Given the description of an element on the screen output the (x, y) to click on. 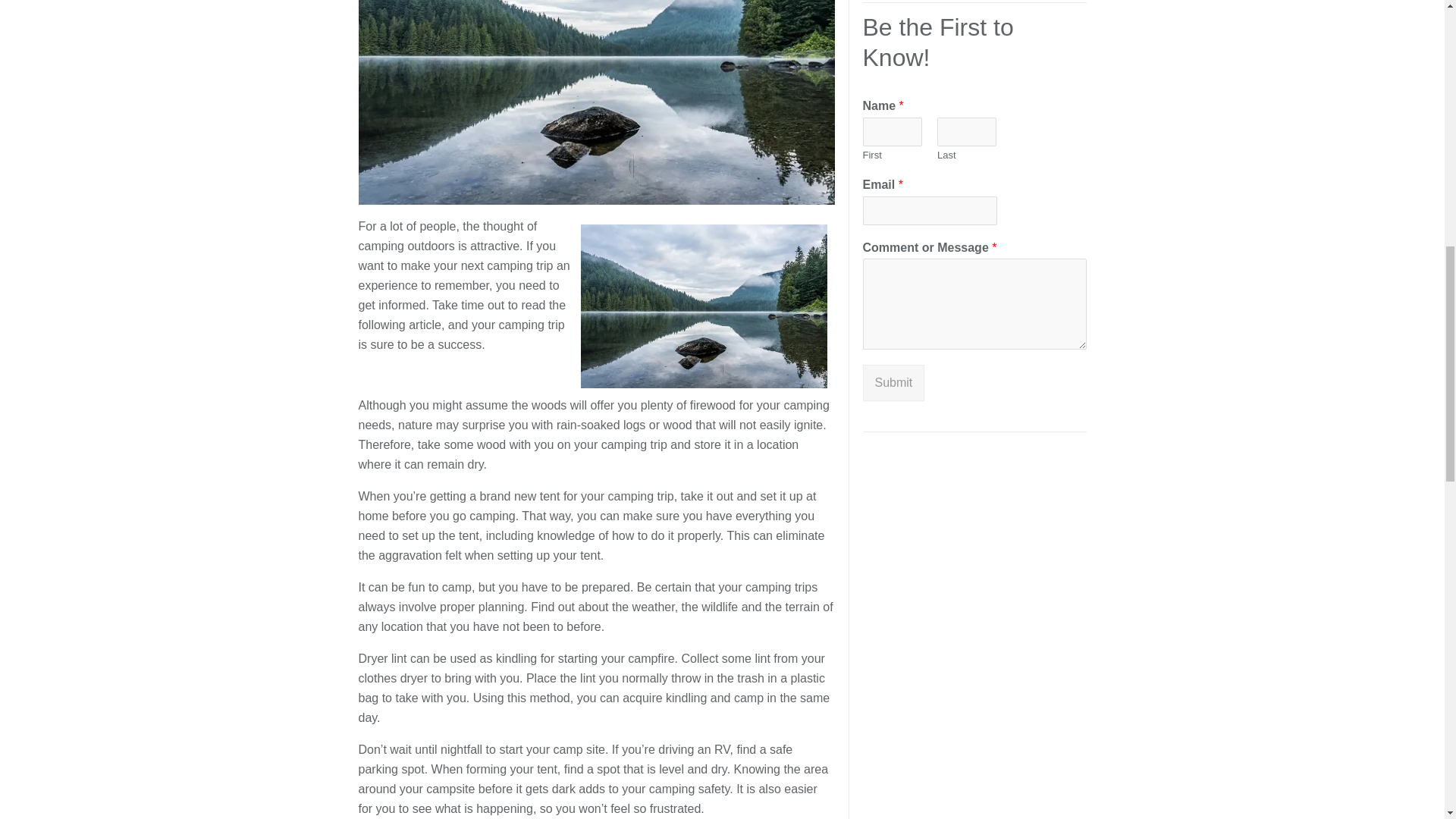
Submit (893, 382)
